Given the description of an element on the screen output the (x, y) to click on. 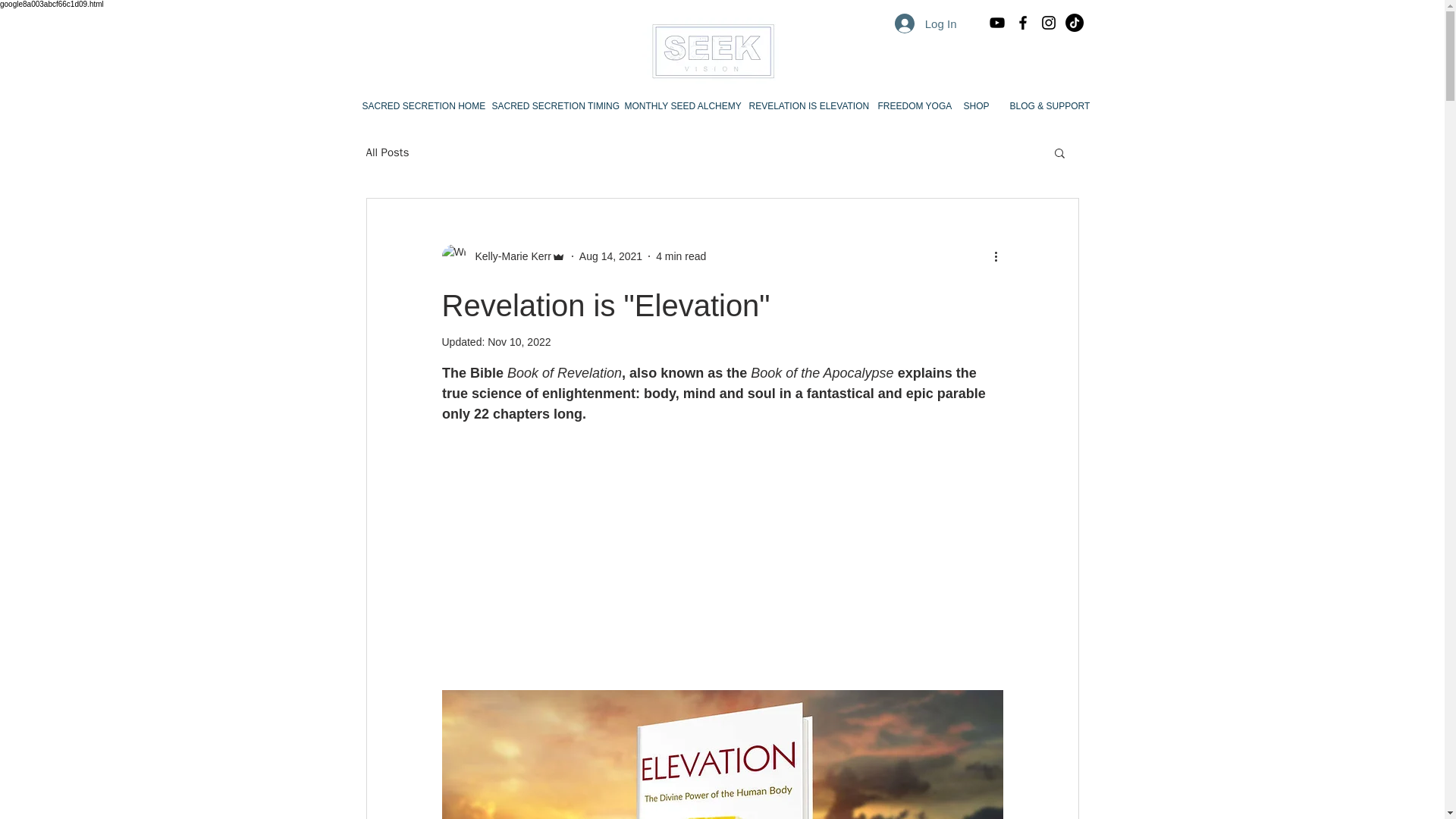
Nov 10, 2022 (518, 341)
SACRED SECRETION HOME (415, 106)
Kelly-Marie Kerr (507, 256)
FREEDOM YOGA (909, 106)
REVELATION IS ELEVATION (801, 106)
4 min read (681, 256)
All Posts (387, 152)
MONTHLY SEED ALCHEMY (674, 106)
Aug 14, 2021 (610, 256)
Kelly-Marie Kerr (502, 256)
